Given the description of an element on the screen output the (x, y) to click on. 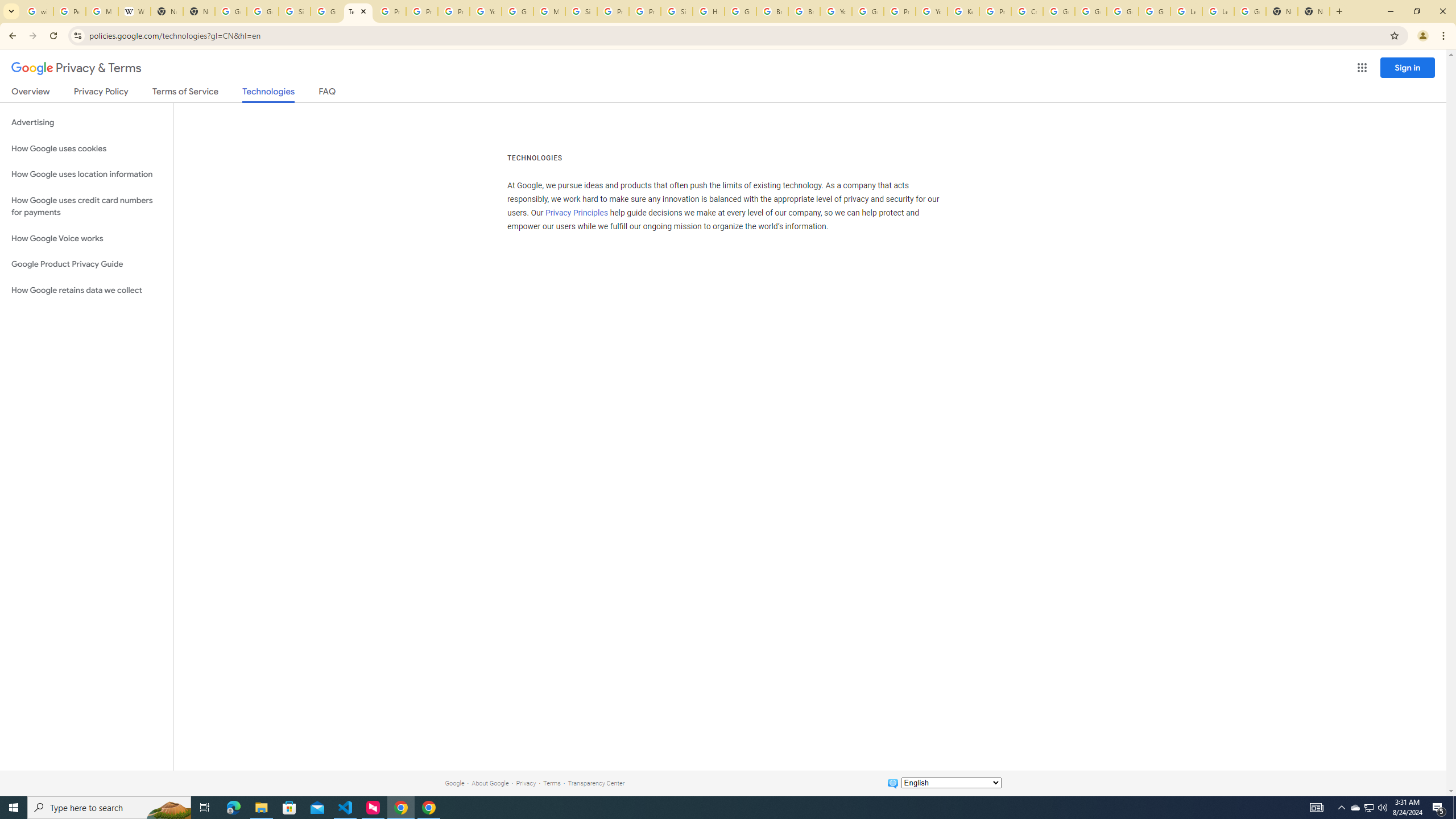
Change language: (951, 782)
New Tab (1313, 11)
Google Account (1249, 11)
Google Account Help (868, 11)
Advertising (86, 122)
